Given the description of an element on the screen output the (x, y) to click on. 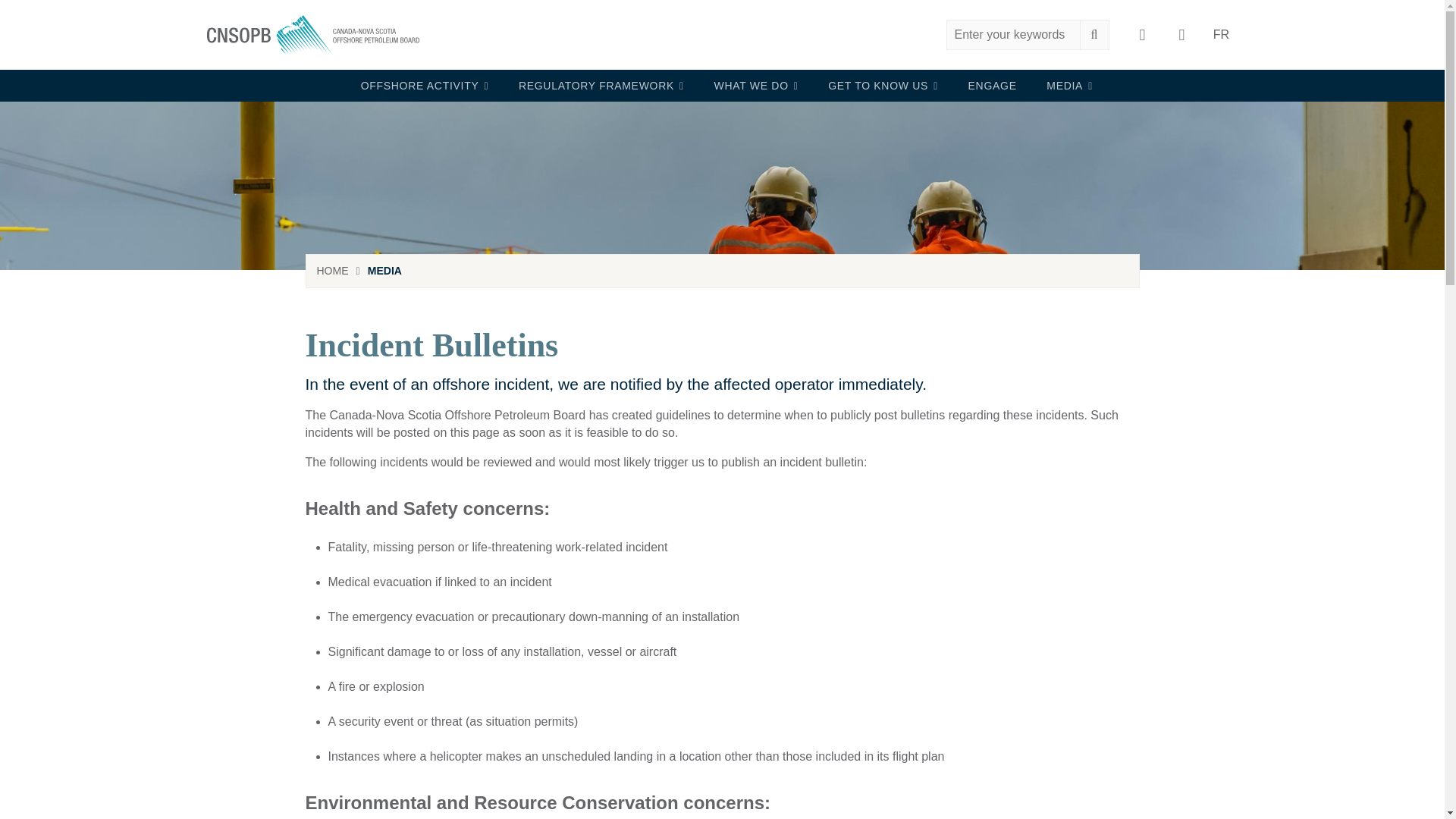
Contact Us (1142, 34)
REGULATORY FRAMEWORK (596, 85)
Twitter (1181, 34)
Search (960, 33)
FR (1220, 34)
OFFSHORE ACTIVITY (419, 85)
WHAT WE DO (751, 85)
Contact CNSOPB (1142, 34)
Search (960, 33)
